Given the description of an element on the screen output the (x, y) to click on. 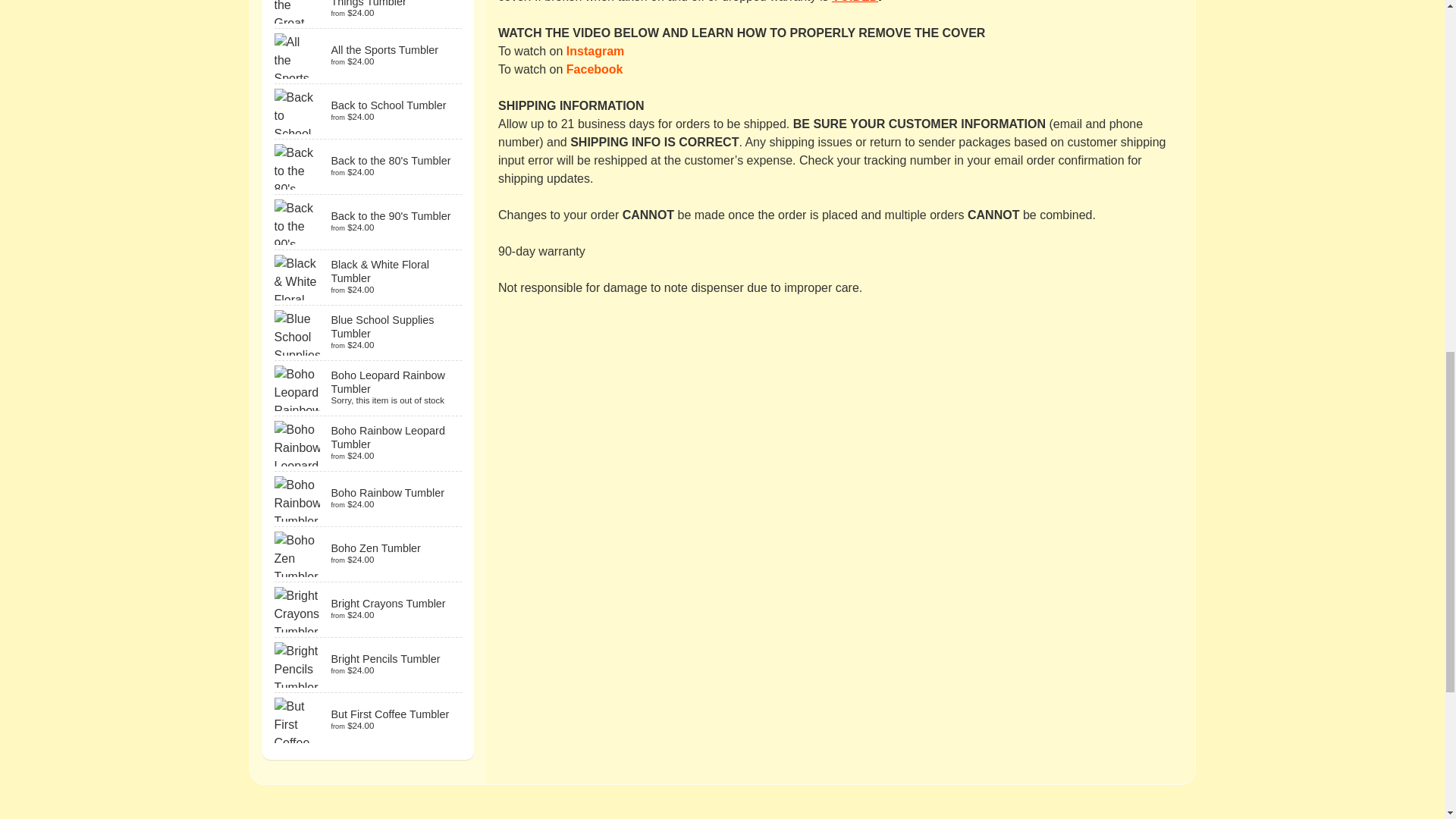
Back to School Tumbler (369, 111)
Boho Leopard Rainbow Tumbler (369, 388)
All the Great School Things Tumbler (369, 13)
Boho Rainbow Leopard Tumbler (369, 443)
Blue School Supplies Tumbler (369, 332)
Boho Zen Tumbler (369, 554)
Bright Crayons Tumbler (369, 609)
All the Sports Tumbler (369, 55)
Back to the 90's Tumbler (369, 221)
